Given the description of an element on the screen output the (x, y) to click on. 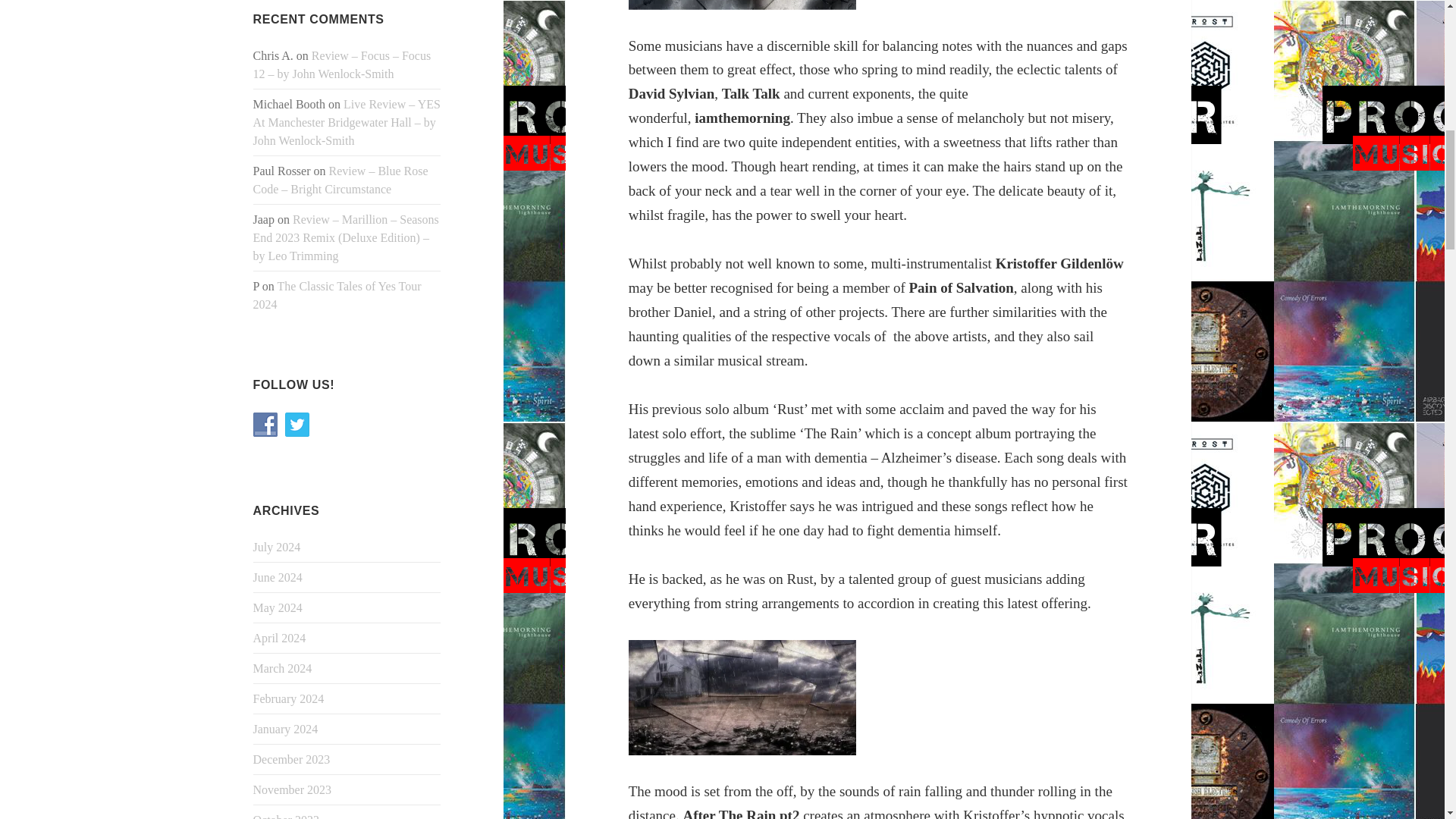
April 2024 (279, 637)
June 2024 (277, 576)
December 2023 (291, 758)
November 2023 (292, 789)
October 2023 (286, 816)
May 2024 (277, 607)
March 2024 (283, 667)
Twitter DTVoicesUK (296, 424)
July 2024 (277, 546)
Facebook Progradar (265, 424)
February 2024 (288, 698)
The Classic Tales of Yes Tour 2024 (337, 295)
January 2024 (285, 728)
